Given the description of an element on the screen output the (x, y) to click on. 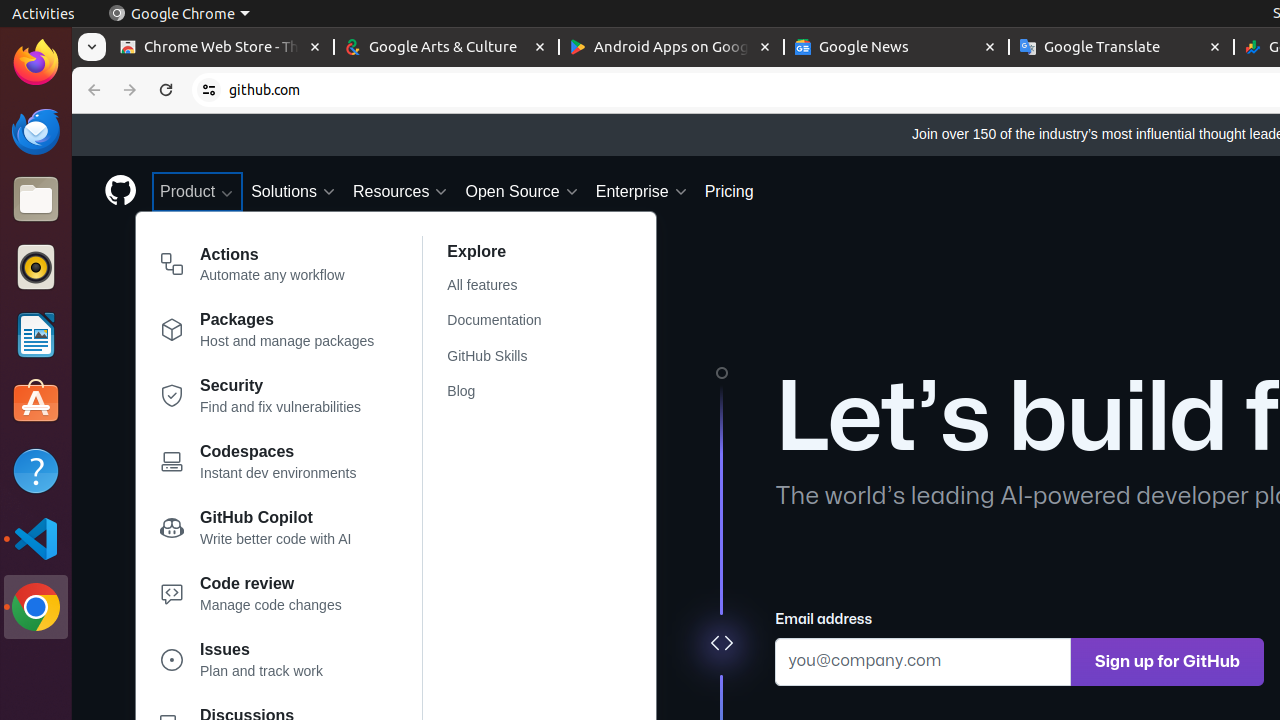
LibreOffice Writer Element type: push-button (36, 334)
Pricing Element type: link (729, 191)
Codespaces Instant dev environments Element type: link (267, 466)
Back Element type: push-button (91, 90)
Google Chrome Element type: menu (179, 13)
